Given the description of an element on the screen output the (x, y) to click on. 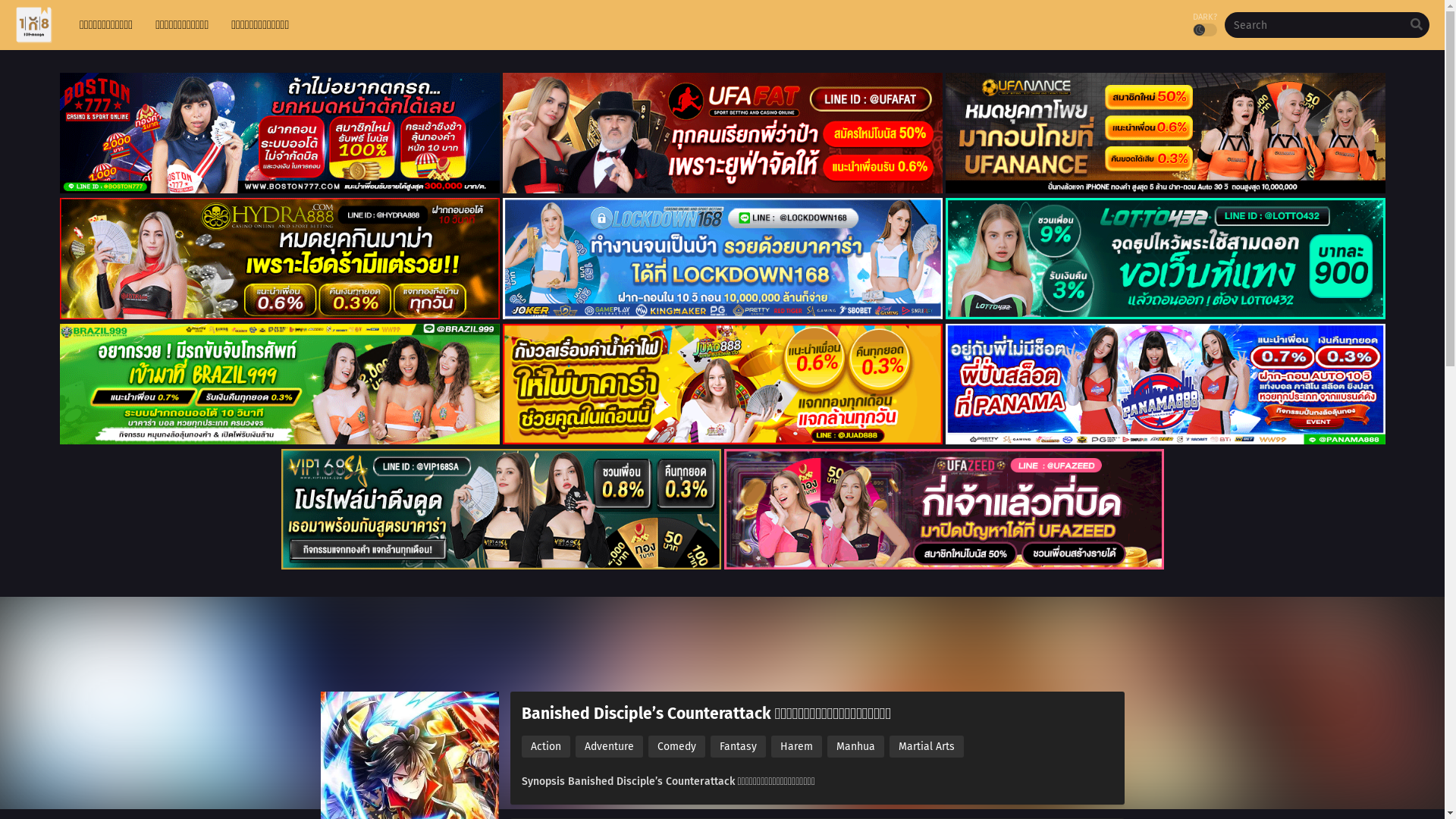
Manhua Element type: text (854, 746)
Fantasy Element type: text (737, 746)
Action Element type: text (545, 746)
Harem Element type: text (795, 746)
Adventure Element type: text (608, 746)
Martial Arts Element type: text (925, 746)
Comedy Element type: text (675, 746)
